Given the description of an element on the screen output the (x, y) to click on. 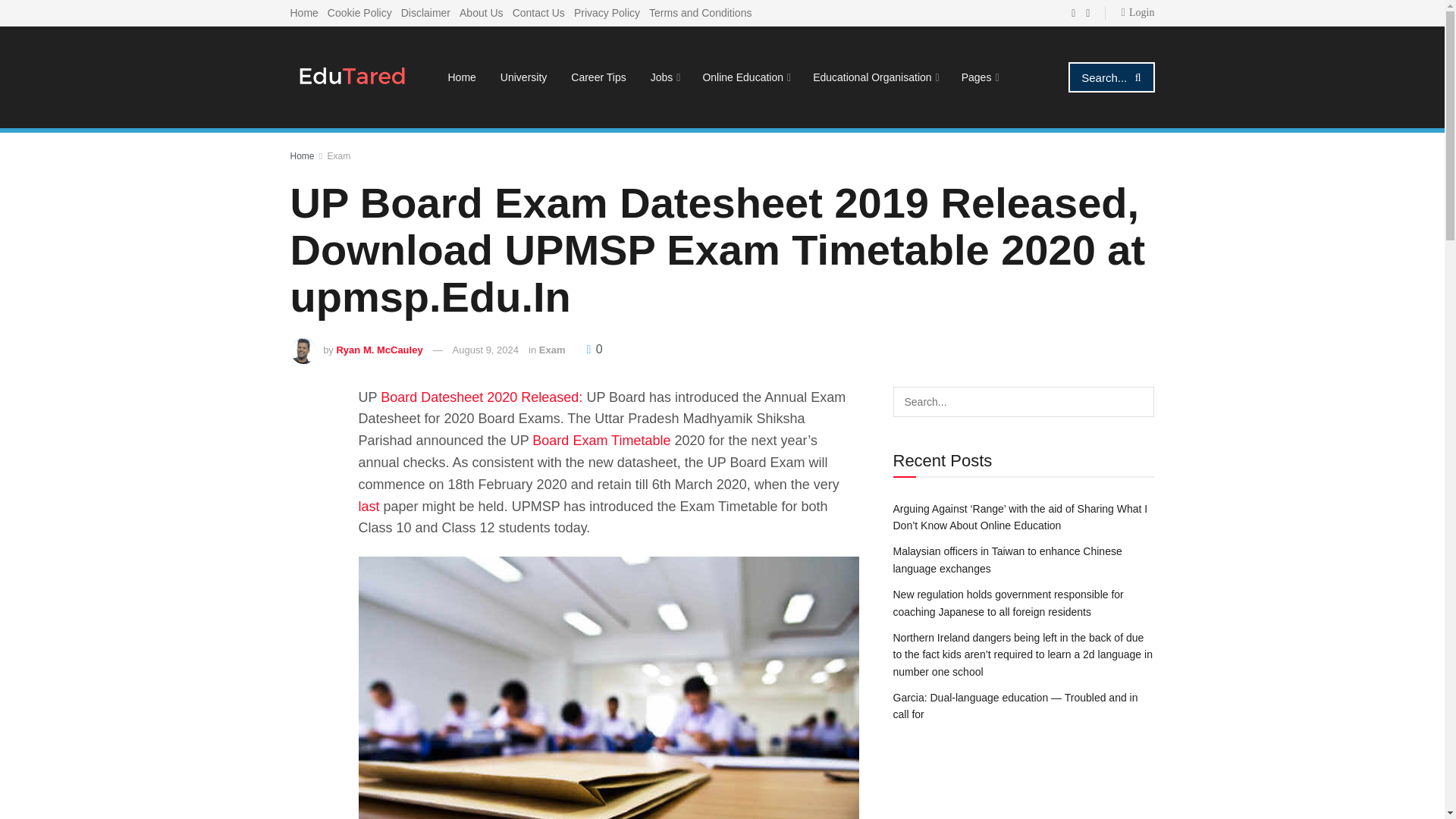
Online Education (745, 76)
Home (303, 12)
University (523, 76)
Contact Us (538, 12)
Login (1137, 12)
Cookie Policy (359, 12)
Pages (979, 76)
Home (461, 76)
Disclaimer (425, 12)
